Given the description of an element on the screen output the (x, y) to click on. 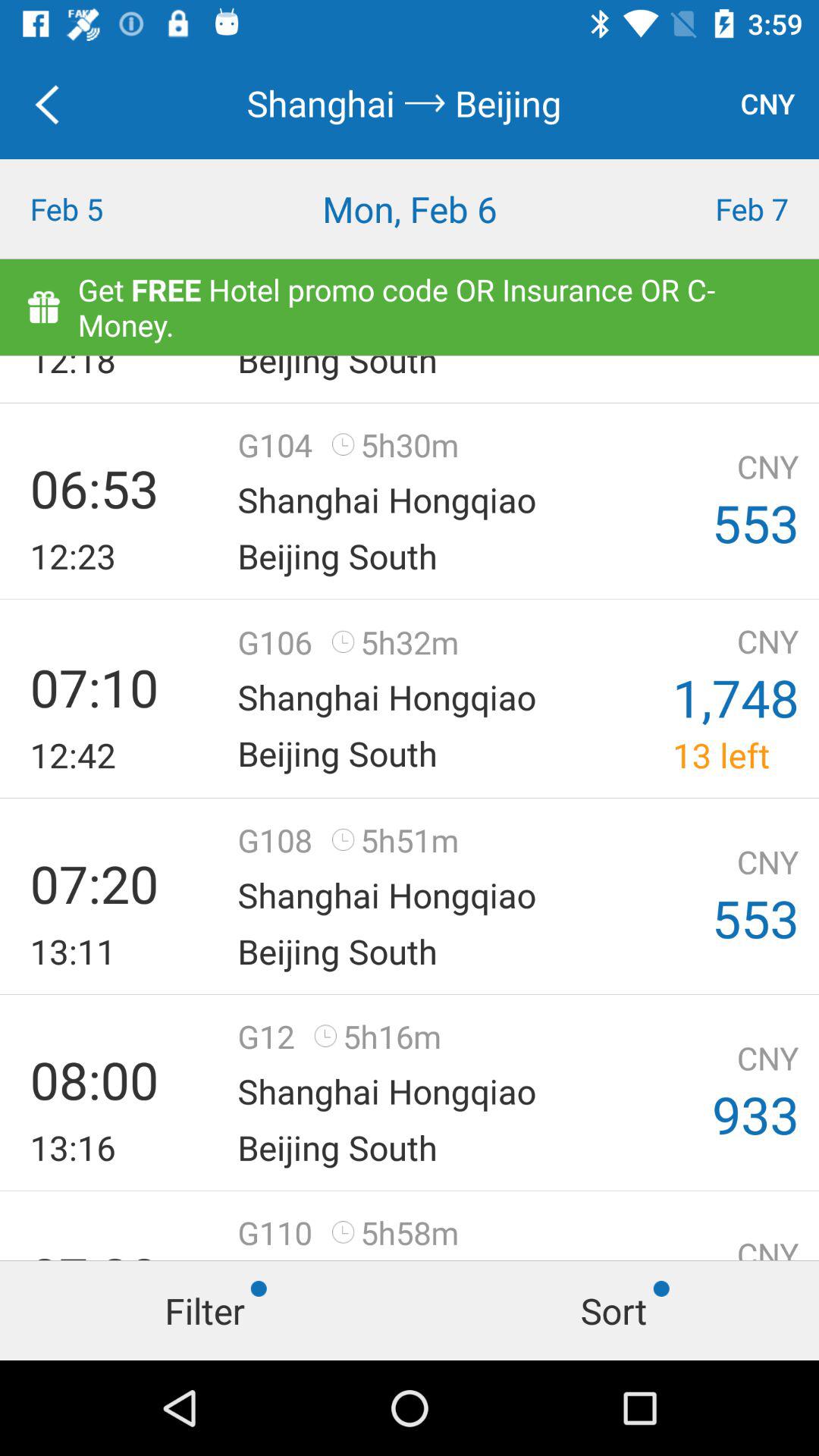
press icon next to the mon, feb 6 item (716, 208)
